Given the description of an element on the screen output the (x, y) to click on. 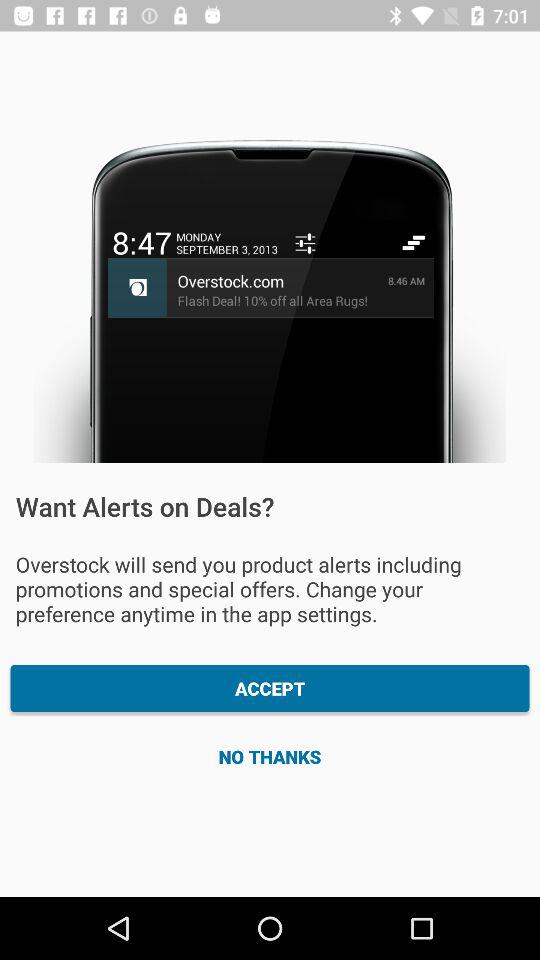
click the item below overstock will send icon (269, 688)
